Given the description of an element on the screen output the (x, y) to click on. 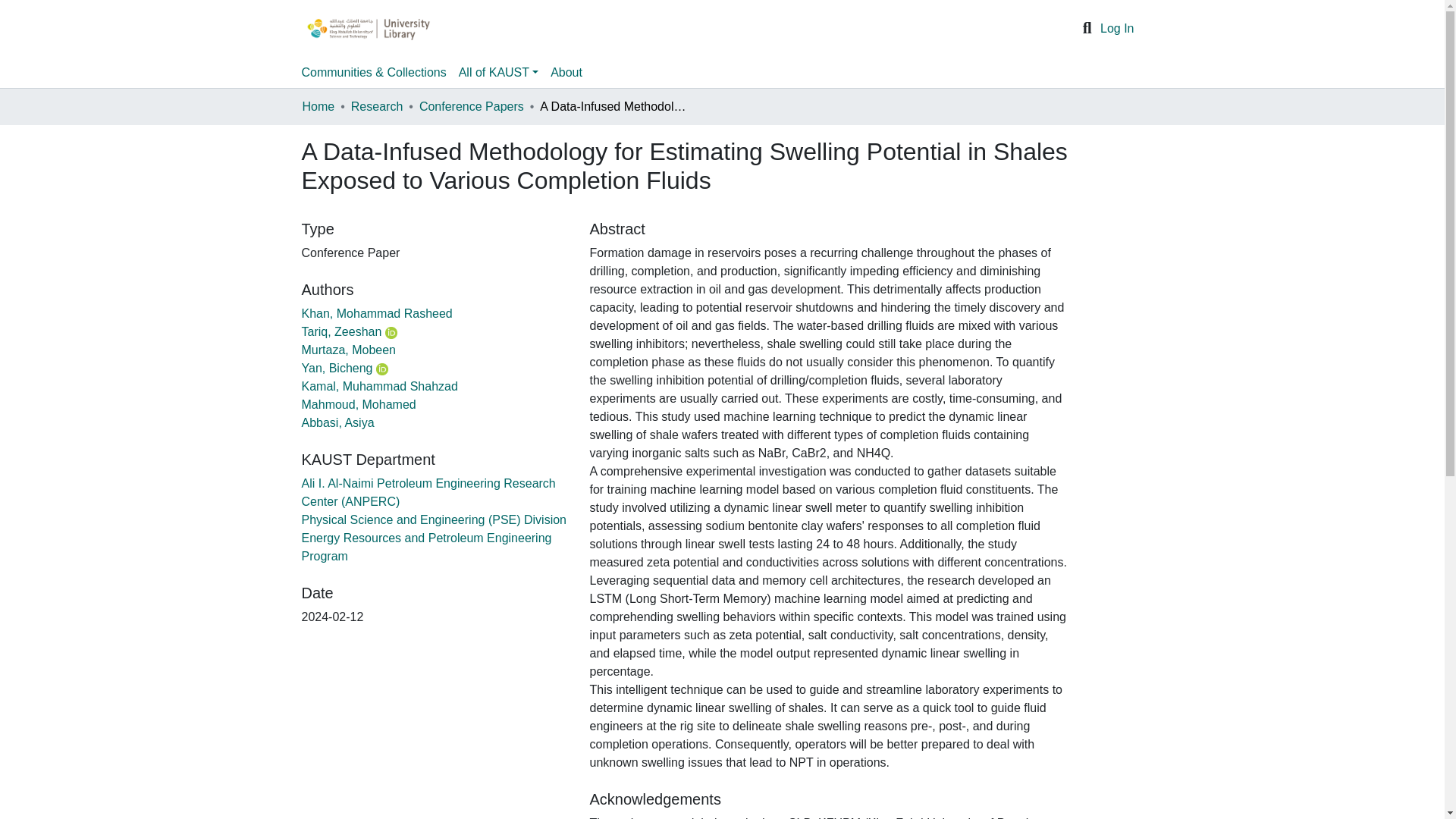
About (566, 72)
Yan, Bicheng (336, 367)
About (566, 72)
Search (1087, 28)
Kamal, Muhammad Shahzad (379, 386)
Log In (1117, 28)
Home (317, 106)
Tariq, Zeeshan (341, 331)
Abbasi, Asiya (337, 422)
Mahmoud, Mohamed (358, 404)
